Given the description of an element on the screen output the (x, y) to click on. 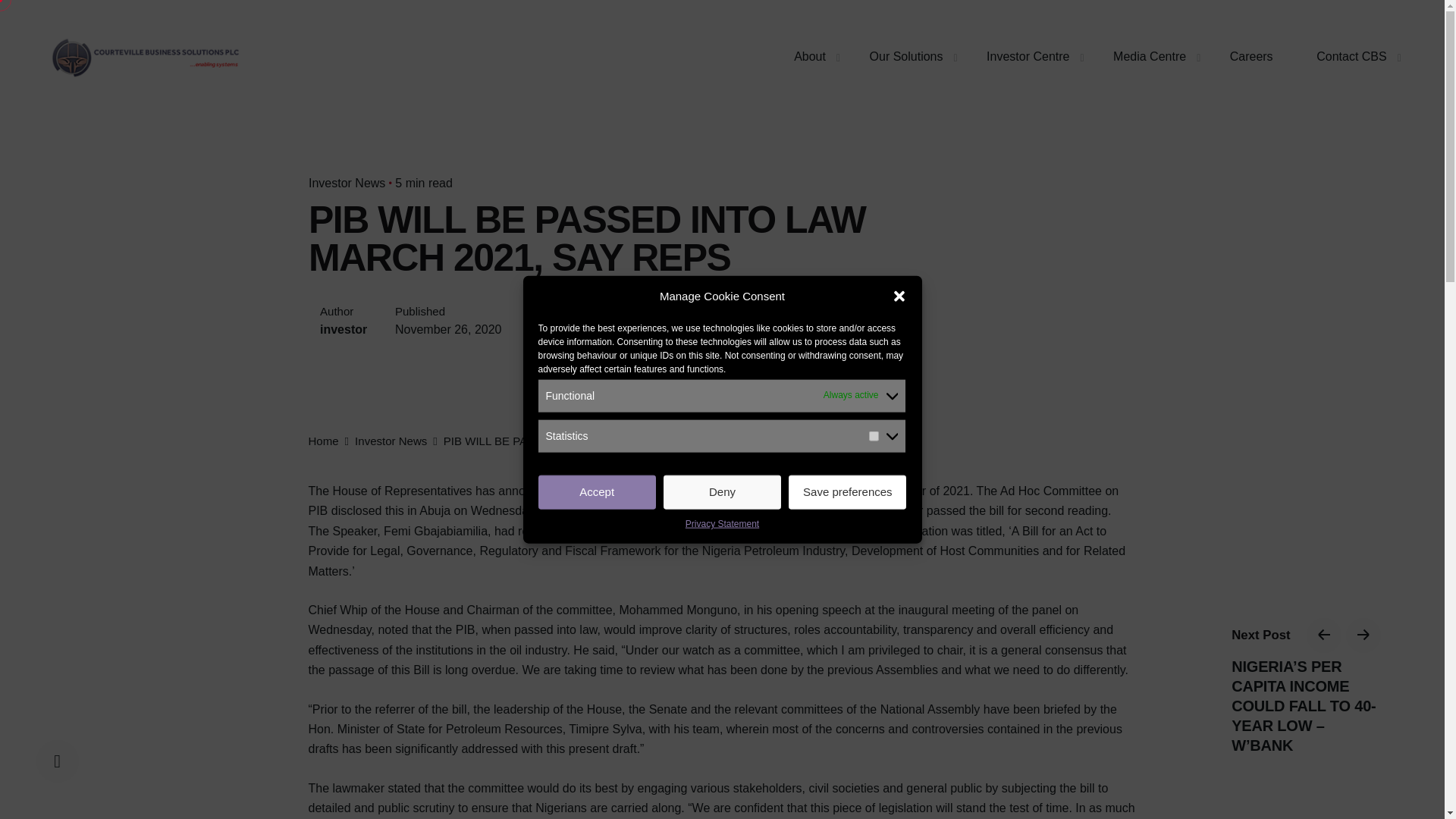
1 (874, 436)
Our Solutions (906, 57)
Privacy Statement (721, 524)
About (809, 57)
Deny (721, 492)
Accept (597, 492)
Save preferences (847, 492)
